Given the description of an element on the screen output the (x, y) to click on. 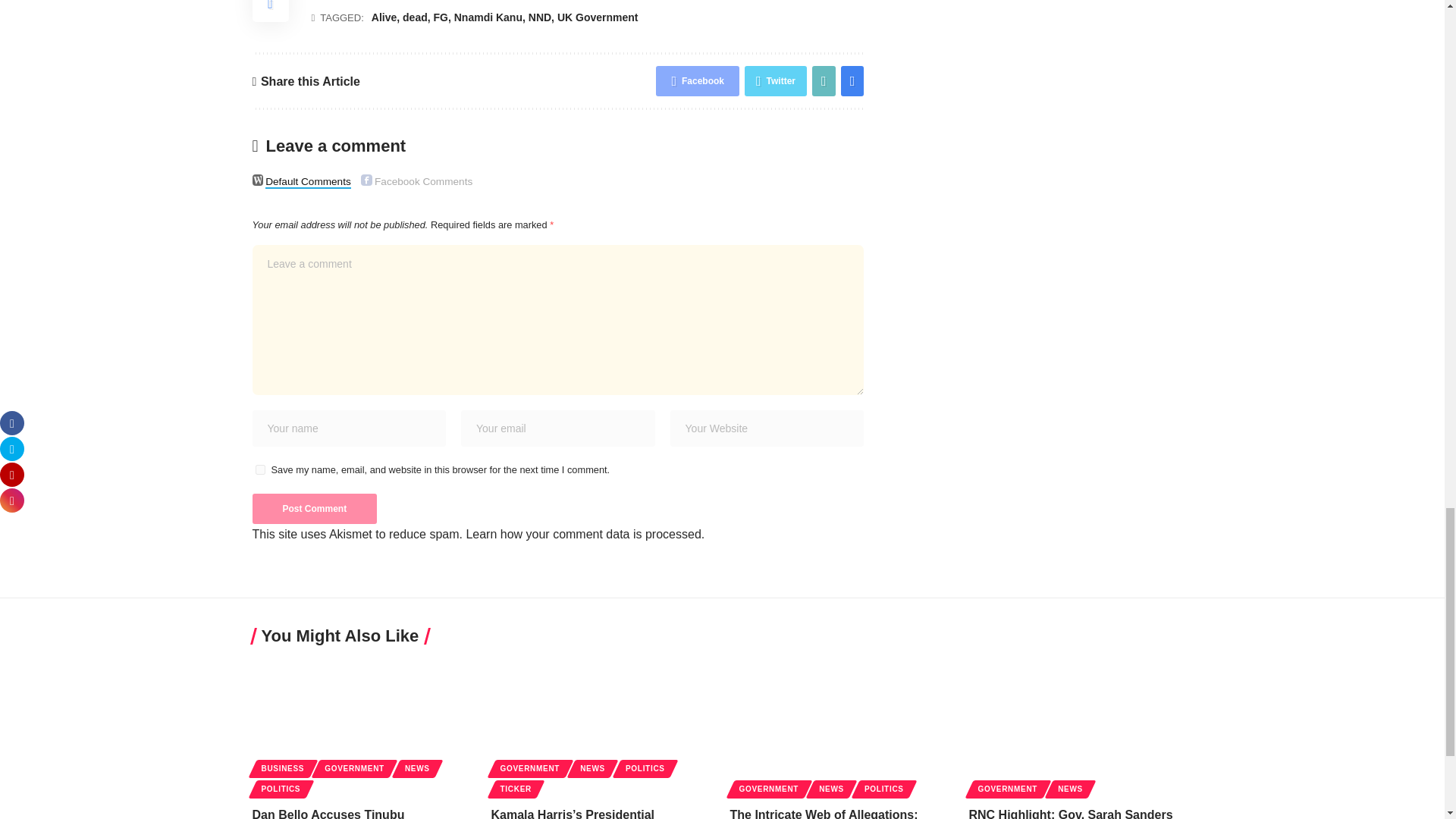
Default Comments (257, 179)
Post Comment (314, 508)
Facebook Comments (366, 179)
yes (259, 470)
